Given the description of an element on the screen output the (x, y) to click on. 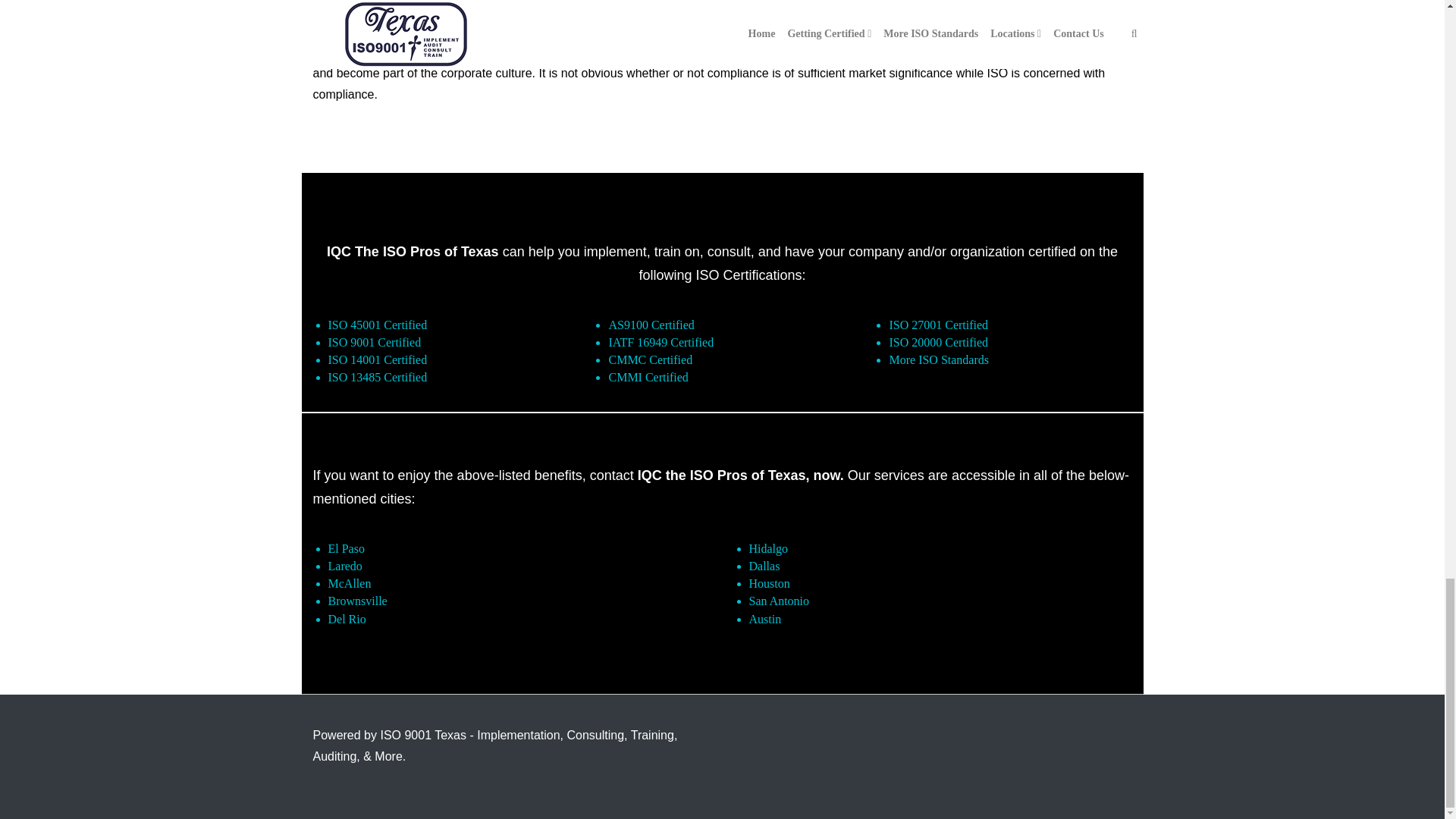
ISO 14001 Certified (376, 359)
ISO 45001 Certified (376, 324)
ISO 13485 Certified (376, 377)
ISO 9001 Certified (373, 341)
IATF 16949 Certified (660, 341)
AS9100 Certified (651, 324)
